Given the description of an element on the screen output the (x, y) to click on. 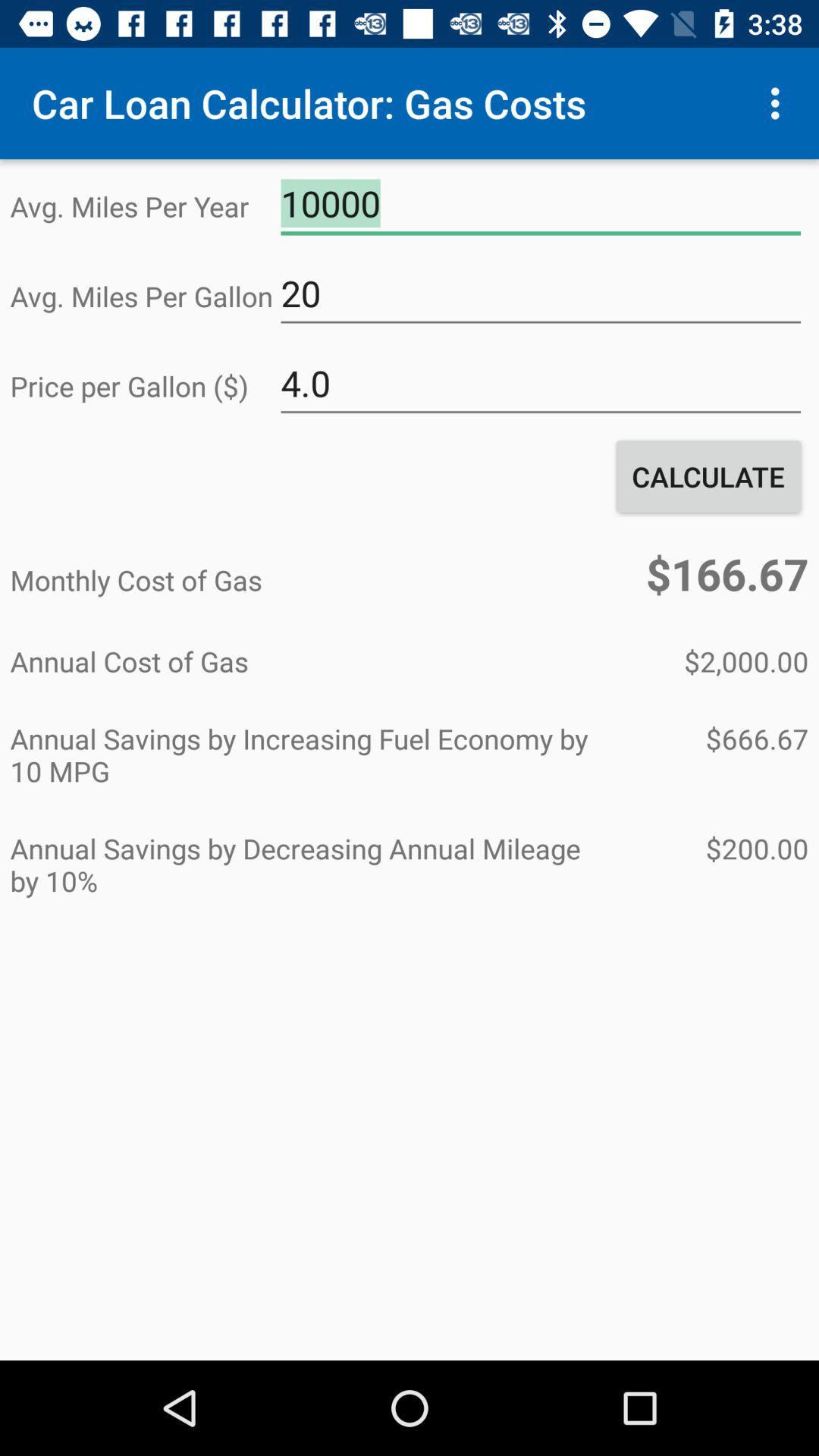
turn off the icon next to the avg miles per item (540, 293)
